Given the description of an element on the screen output the (x, y) to click on. 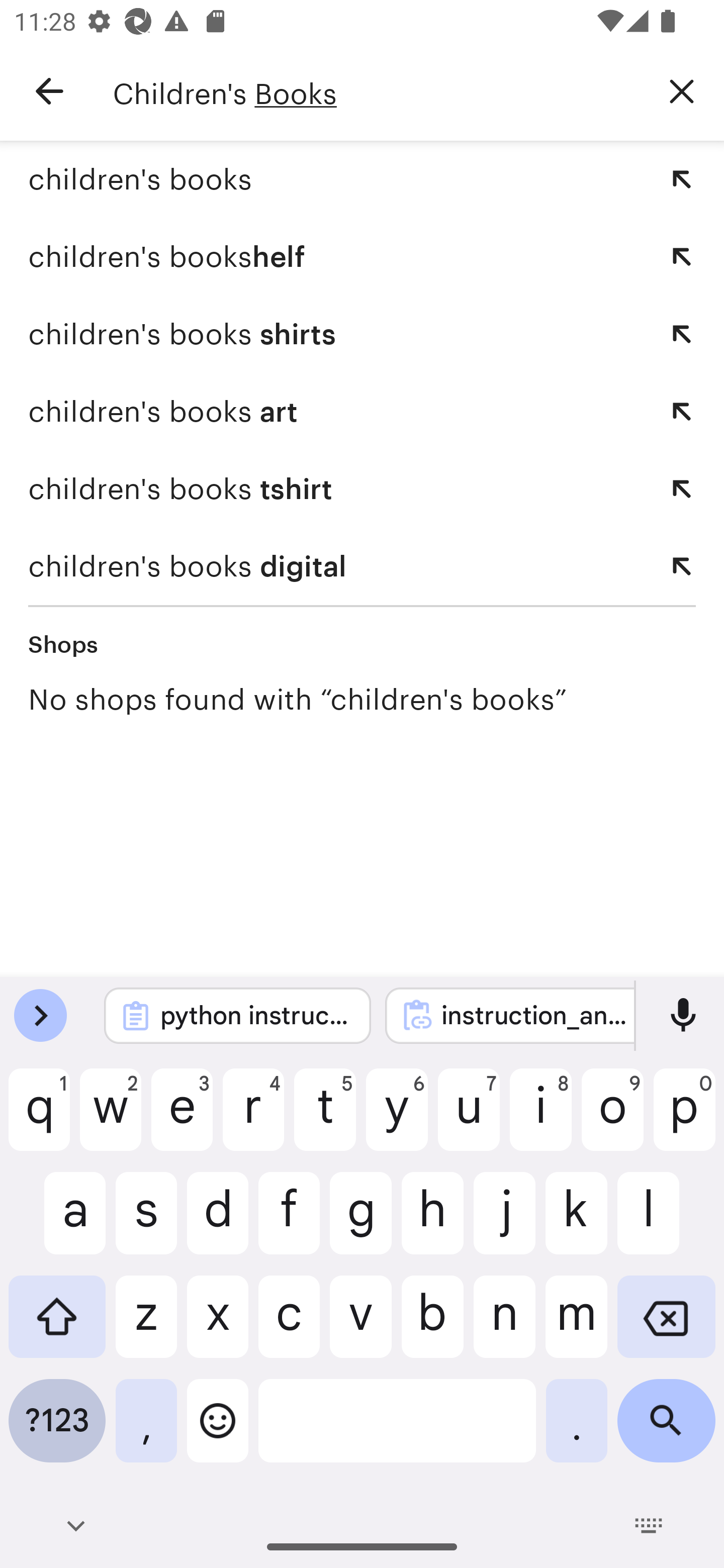
Navigate up (49, 91)
Clear query (681, 90)
Children's Books (375, 91)
